Given the description of an element on the screen output the (x, y) to click on. 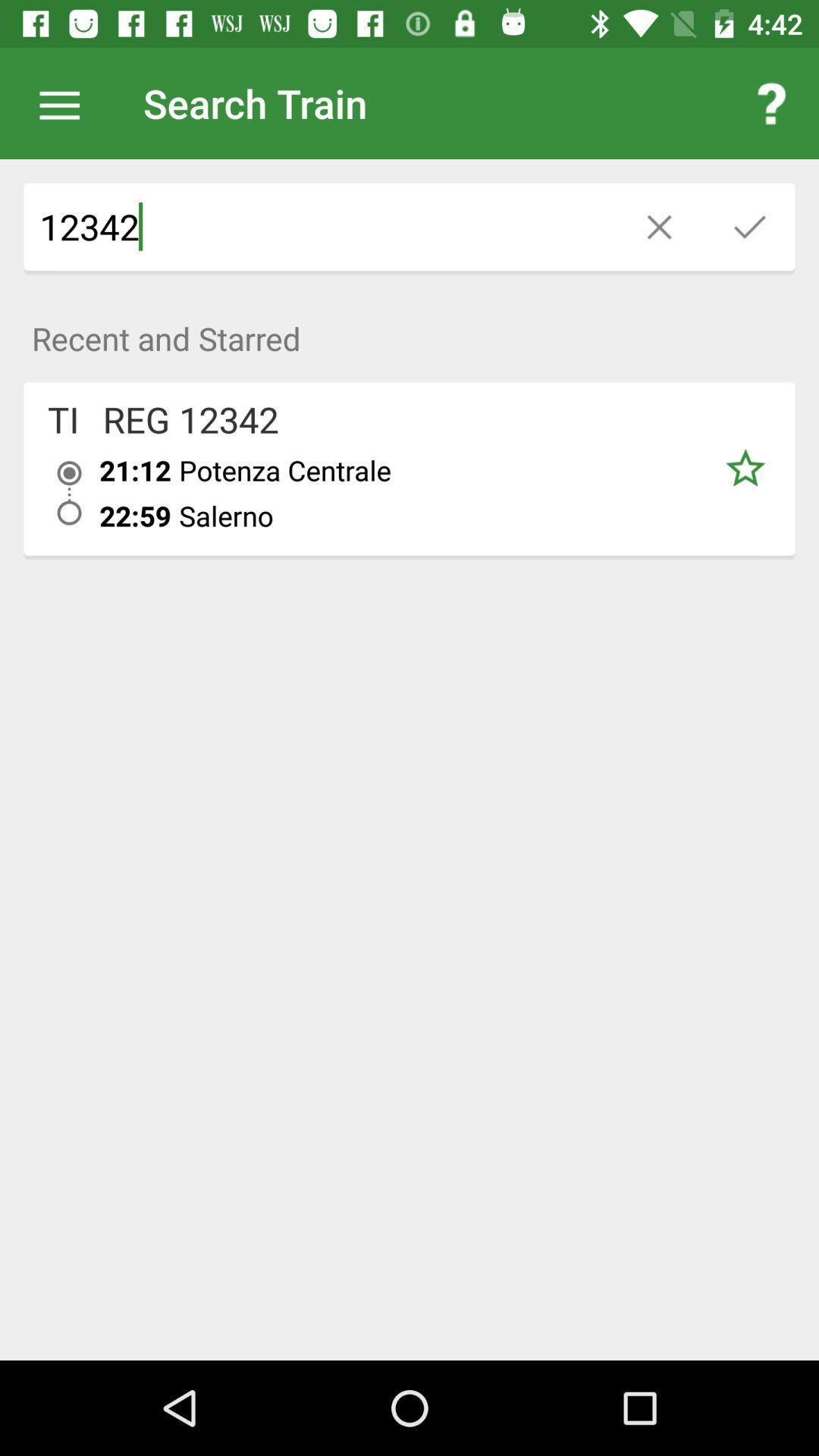
launch the potenza centrale icon (437, 470)
